Given the description of an element on the screen output the (x, y) to click on. 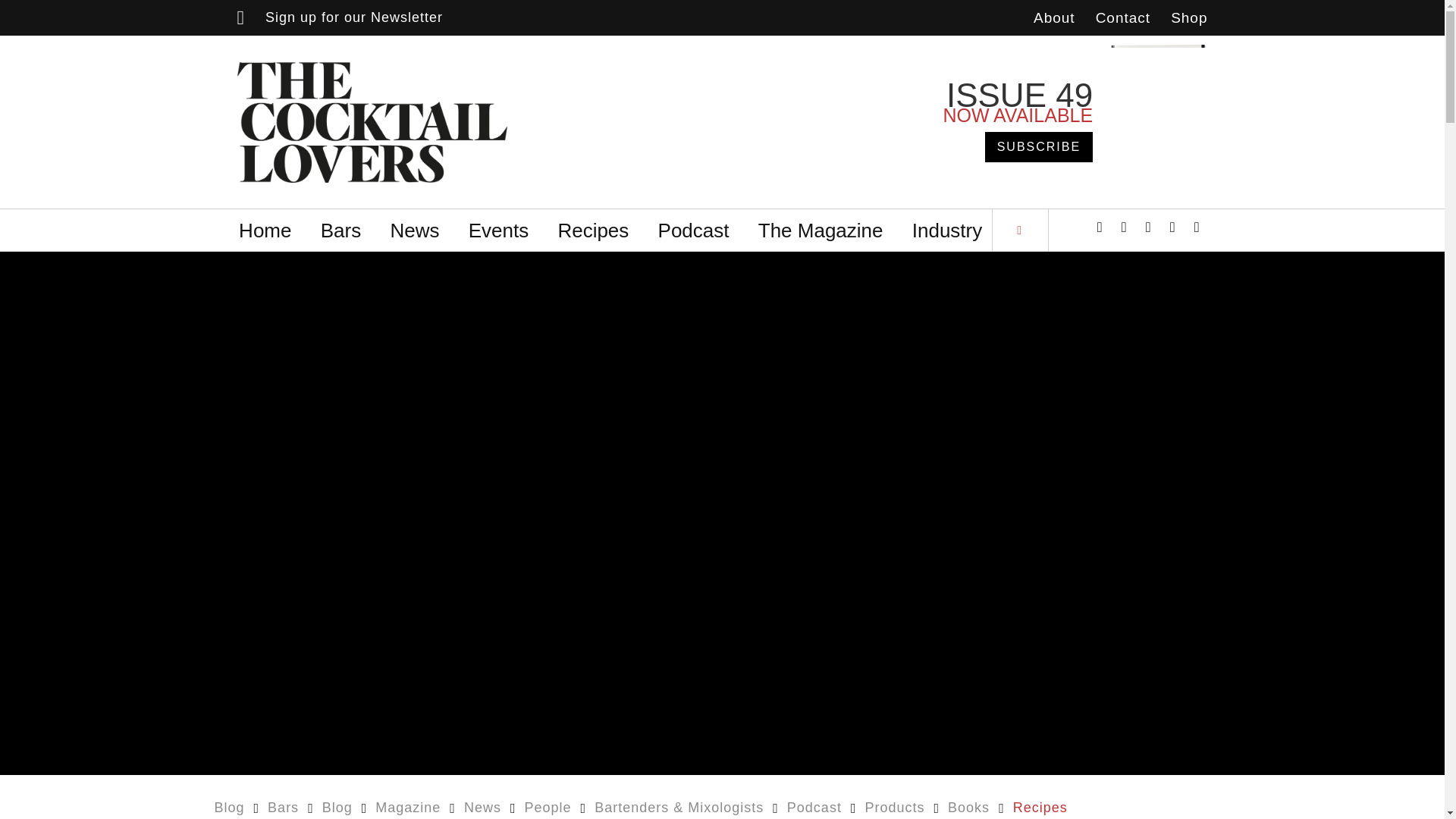
About (1054, 17)
Shop (1188, 17)
News (414, 230)
Home (264, 230)
Sign up for our Newsletter (338, 17)
Industry (947, 230)
Recipes (593, 230)
Events (498, 230)
SUBSCRIBE (1039, 143)
Contact (1123, 17)
